Given the description of an element on the screen output the (x, y) to click on. 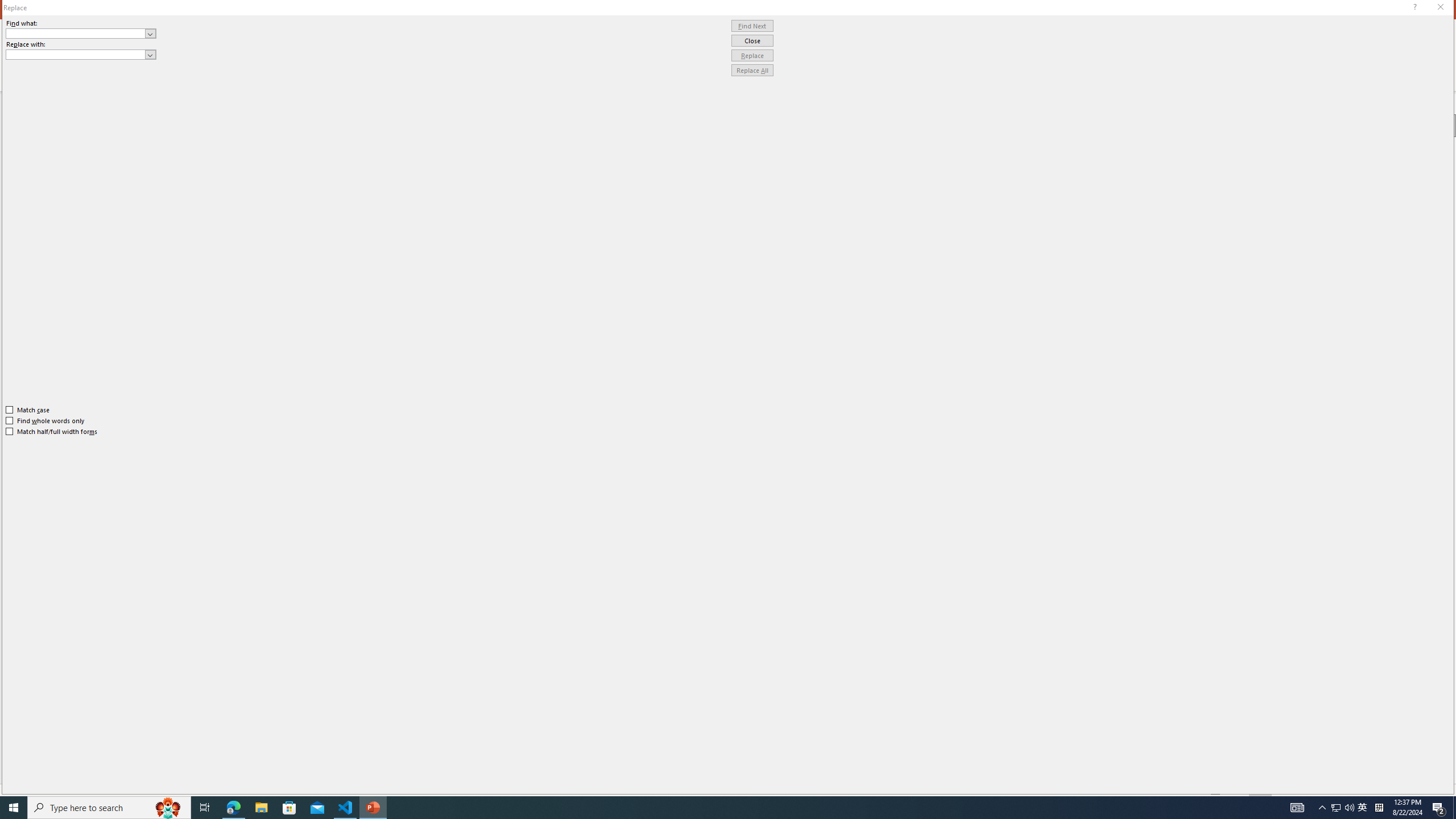
Replace (752, 55)
Match case (27, 409)
